Given the description of an element on the screen output the (x, y) to click on. 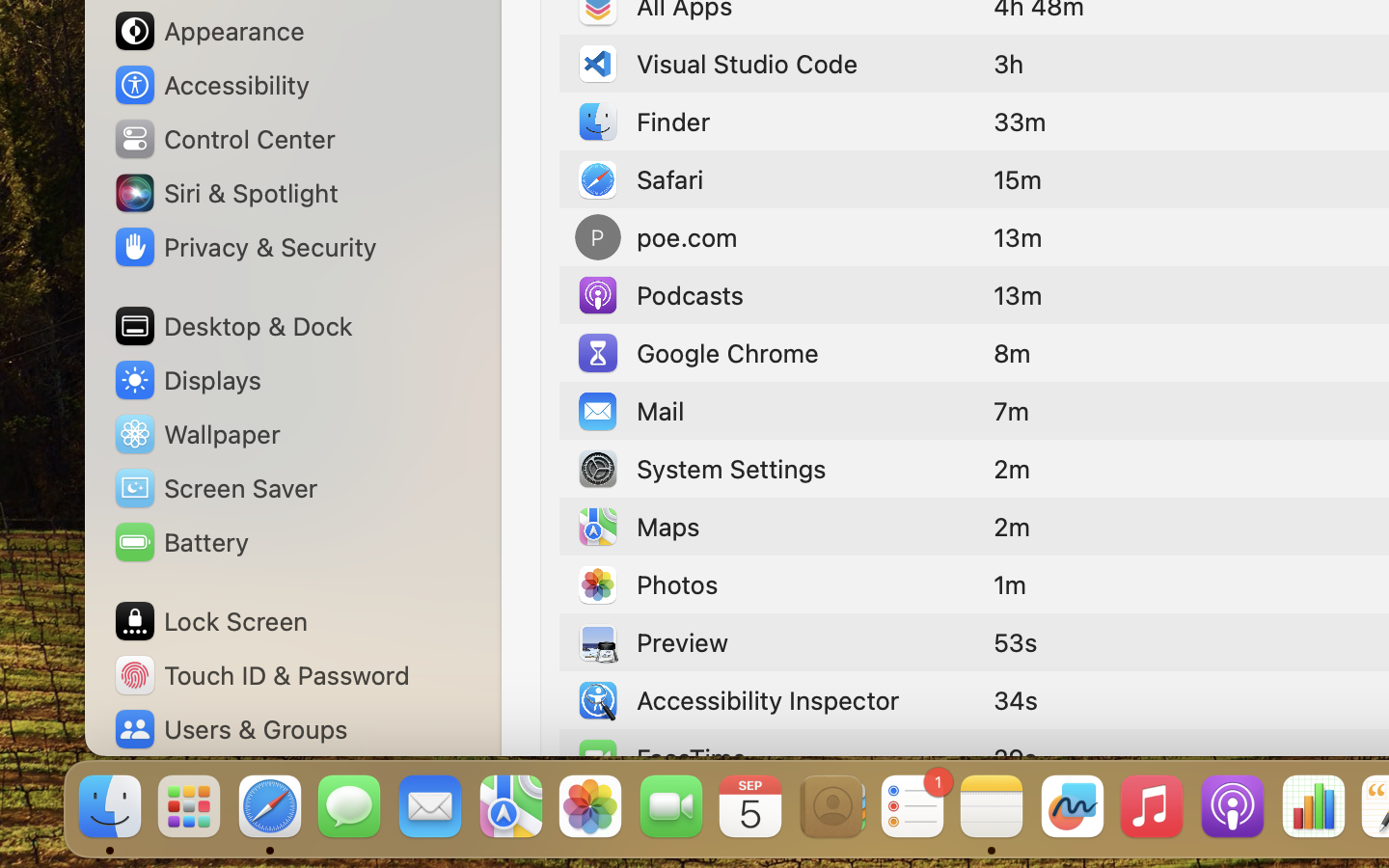
33m Element type: AXStaticText (1019, 121)
Podcasts Element type: AXStaticText (659, 294)
Finder Element type: AXStaticText (641, 121)
Visual Studio Code Element type: AXStaticText (716, 63)
34s Element type: AXStaticText (1015, 699)
